Given the description of an element on the screen output the (x, y) to click on. 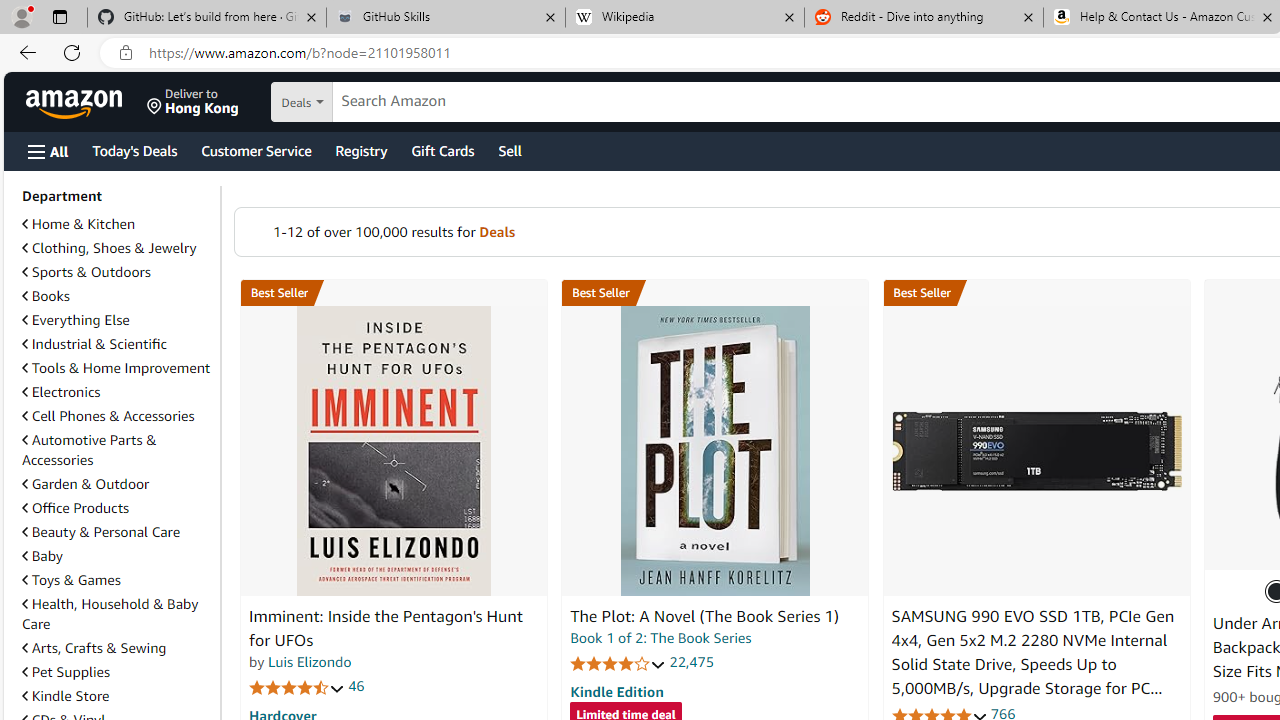
Health, Household & Baby Care (109, 613)
4.2 out of 5 stars (617, 663)
Kindle Edition (616, 691)
Home & Kitchen (117, 223)
Toys & Games (117, 579)
Office Products (75, 507)
Office Products (117, 507)
The Plot: A Novel (The Book Series 1) (714, 451)
Clothing, Shoes & Jewelry (109, 248)
22,475 (691, 662)
Beauty & Personal Care (100, 531)
Kindle Store (117, 696)
